Given the description of an element on the screen output the (x, y) to click on. 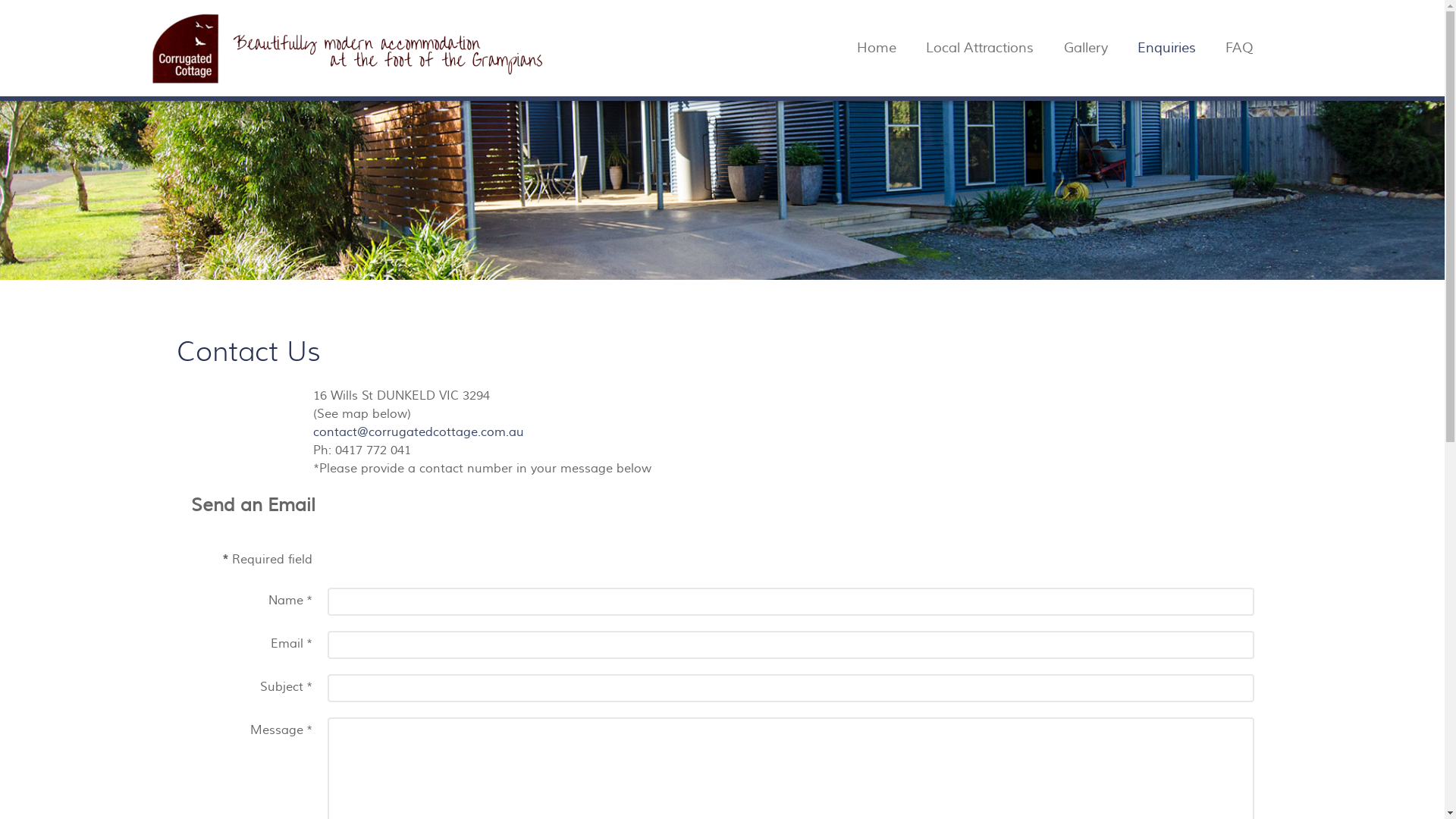
FAQ Element type: text (1238, 47)
Home Element type: text (876, 47)
Sienna Element type: hover (346, 45)
Enquiries Element type: text (1166, 47)
contact@corrugatedcottage.com.au Element type: text (417, 431)
Gallery Element type: text (1085, 47)
Local Attractions Element type: text (979, 47)
